Given the description of an element on the screen output the (x, y) to click on. 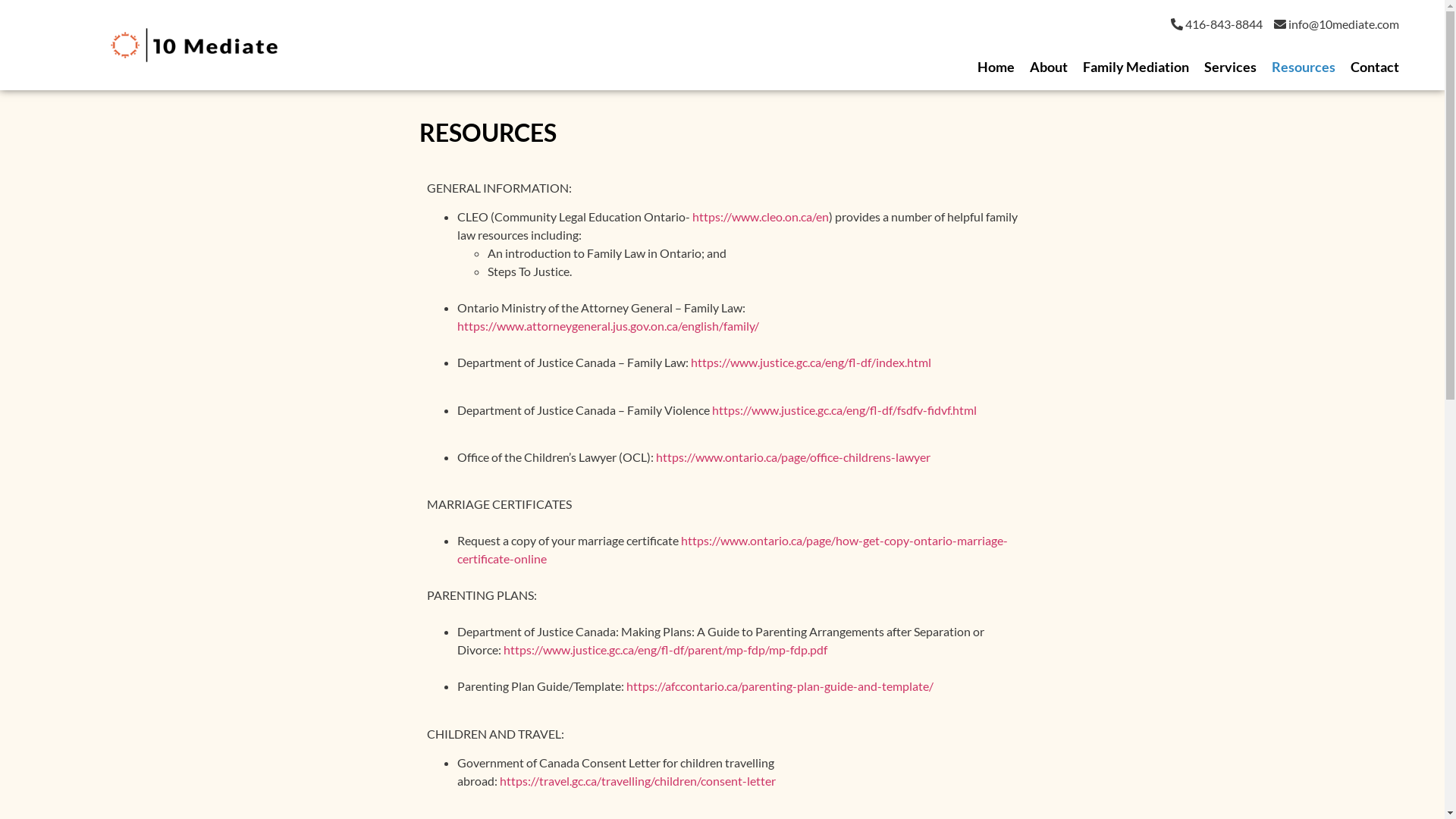
https://www.ontario.ca/page/office-childrens-lawyer Element type: text (792, 456)
Family Mediation Element type: text (1135, 67)
Contact Element type: text (1374, 67)
https://afccontario.ca/parenting-plan-guide-and-template/ Element type: text (779, 685)
https://travel.gc.ca/travelling/children/consent-letter Element type: text (636, 780)
https://www.cleo.on.ca/en Element type: text (759, 216)
https://www.justice.gc.ca/eng/fl-df/fsdfv-fidvf.html Element type: text (843, 409)
https://www.justice.gc.ca/eng/fl-df/index.html Element type: text (810, 361)
Home Element type: text (995, 67)
https://www.justice.gc.ca/eng/fl-df/parent/mp-fdp/mp-fdp.pdf Element type: text (665, 649)
About Element type: text (1048, 67)
Resources Element type: text (1303, 67)
Services Element type: text (1230, 67)
https://www.attorneygeneral.jus.gov.on.ca/english/family/ Element type: text (607, 325)
